Given the description of an element on the screen output the (x, y) to click on. 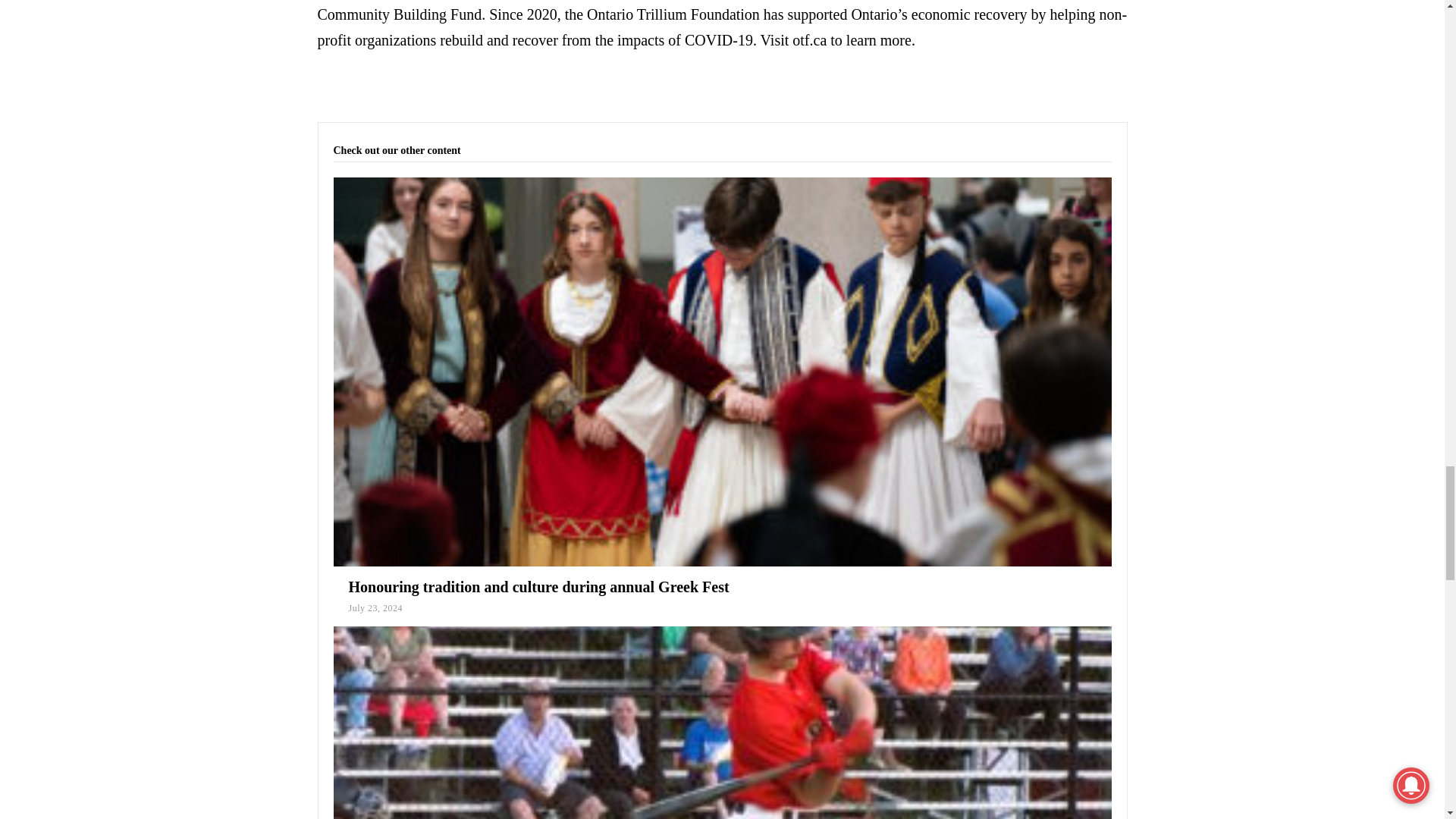
Honouring tradition and culture during annual Greek Fest (539, 586)
